Given the description of an element on the screen output the (x, y) to click on. 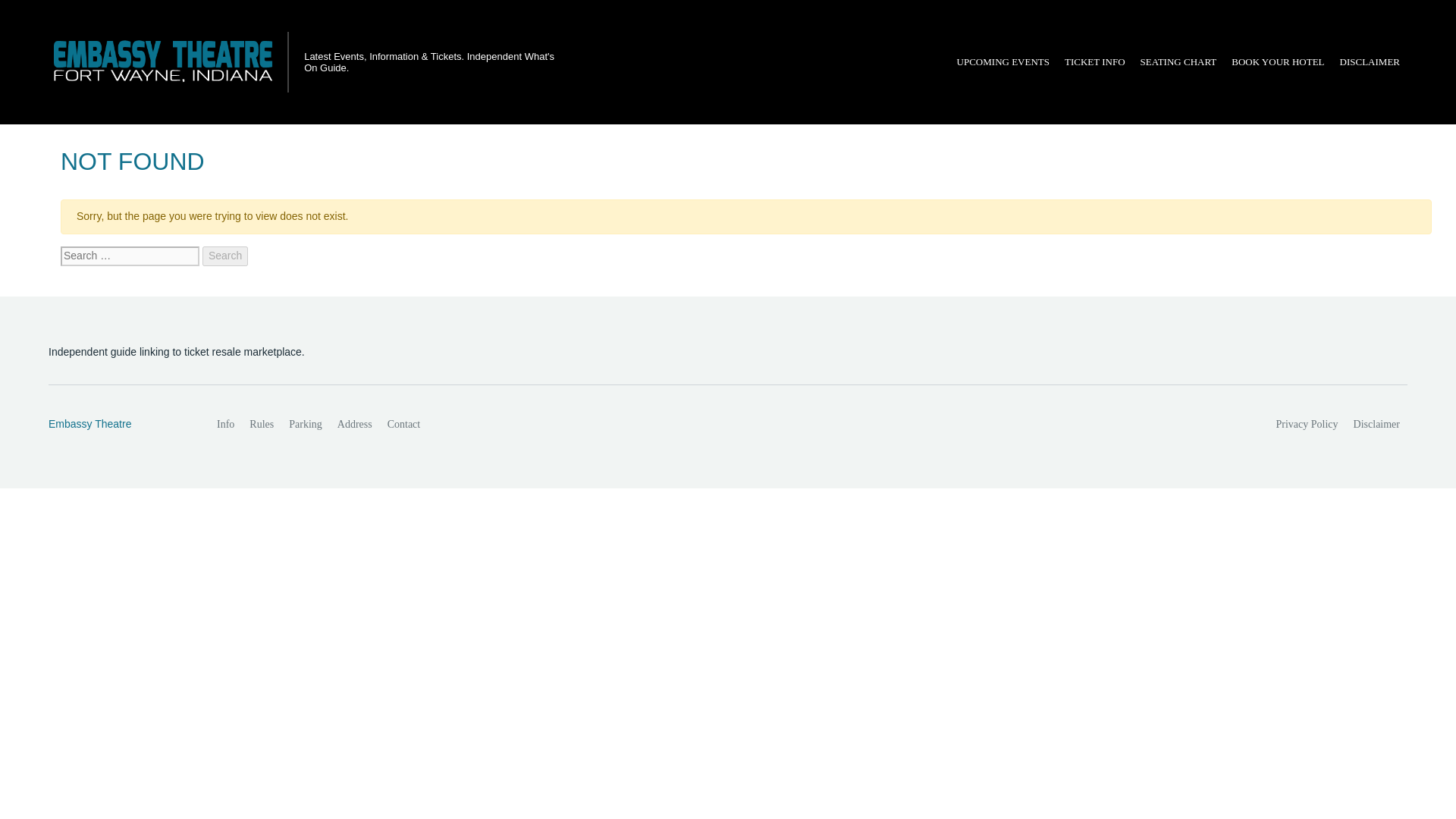
Search (224, 256)
Privacy Policy (1306, 424)
Info (225, 424)
Rules (261, 424)
Search (224, 256)
Search (224, 256)
DISCLAIMER (1369, 61)
SEATING CHART (1178, 61)
TICKET INFO (1094, 61)
Address (355, 424)
Disclaimer (1376, 424)
Embassy Theatre (116, 424)
Parking (305, 424)
UPCOMING EVENTS (1003, 61)
Contact (404, 424)
